Given the description of an element on the screen output the (x, y) to click on. 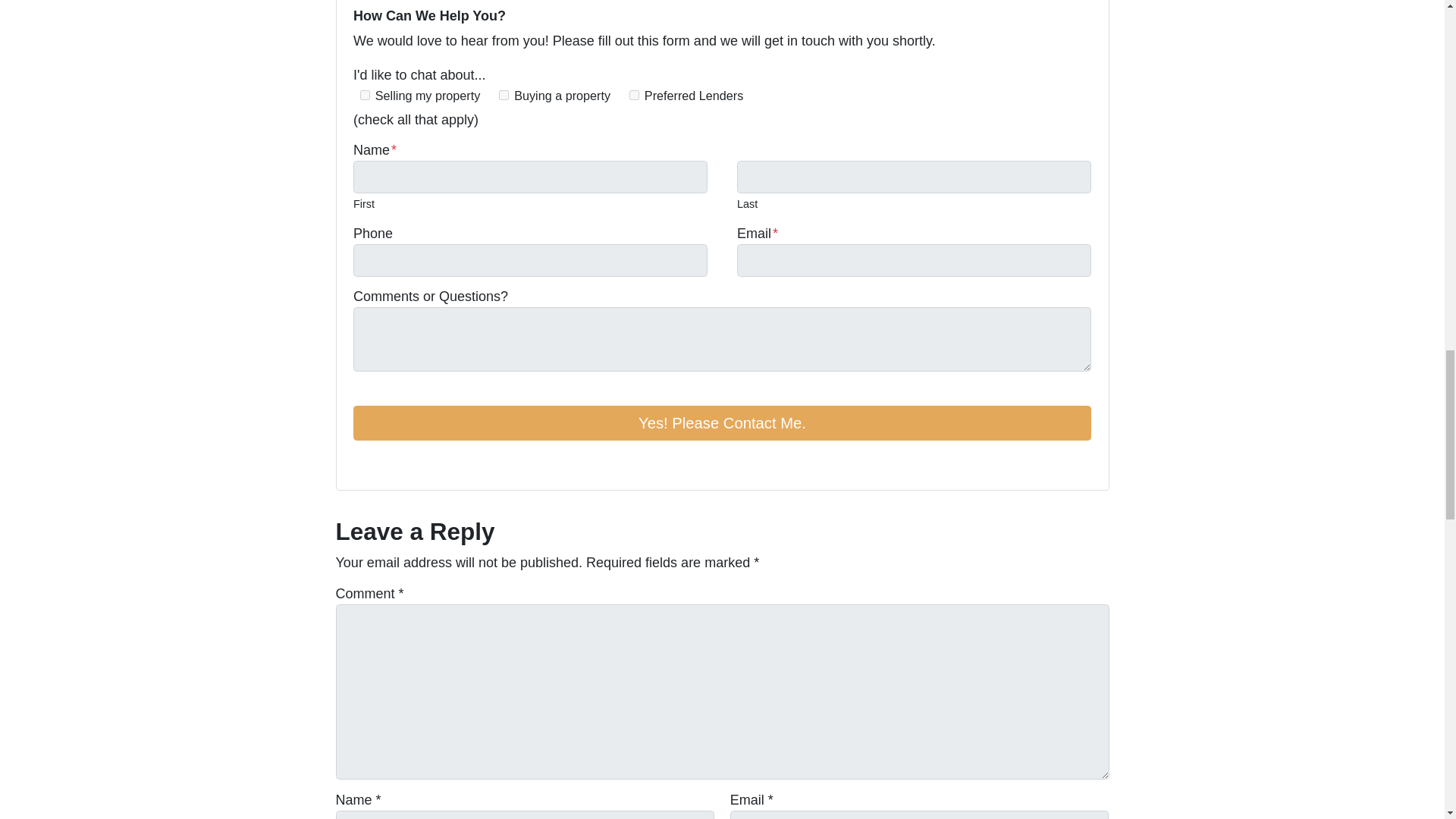
Facebook (362, 463)
Zillow (447, 463)
Yes! Please Contact Me.  (721, 422)
YouTube (383, 463)
LinkedIn (404, 463)
Selling my property (364, 94)
Instagram (425, 463)
Yes! Please Contact Me.  (721, 422)
Preferred Lenders (633, 94)
Buying a property (503, 94)
